Given the description of an element on the screen output the (x, y) to click on. 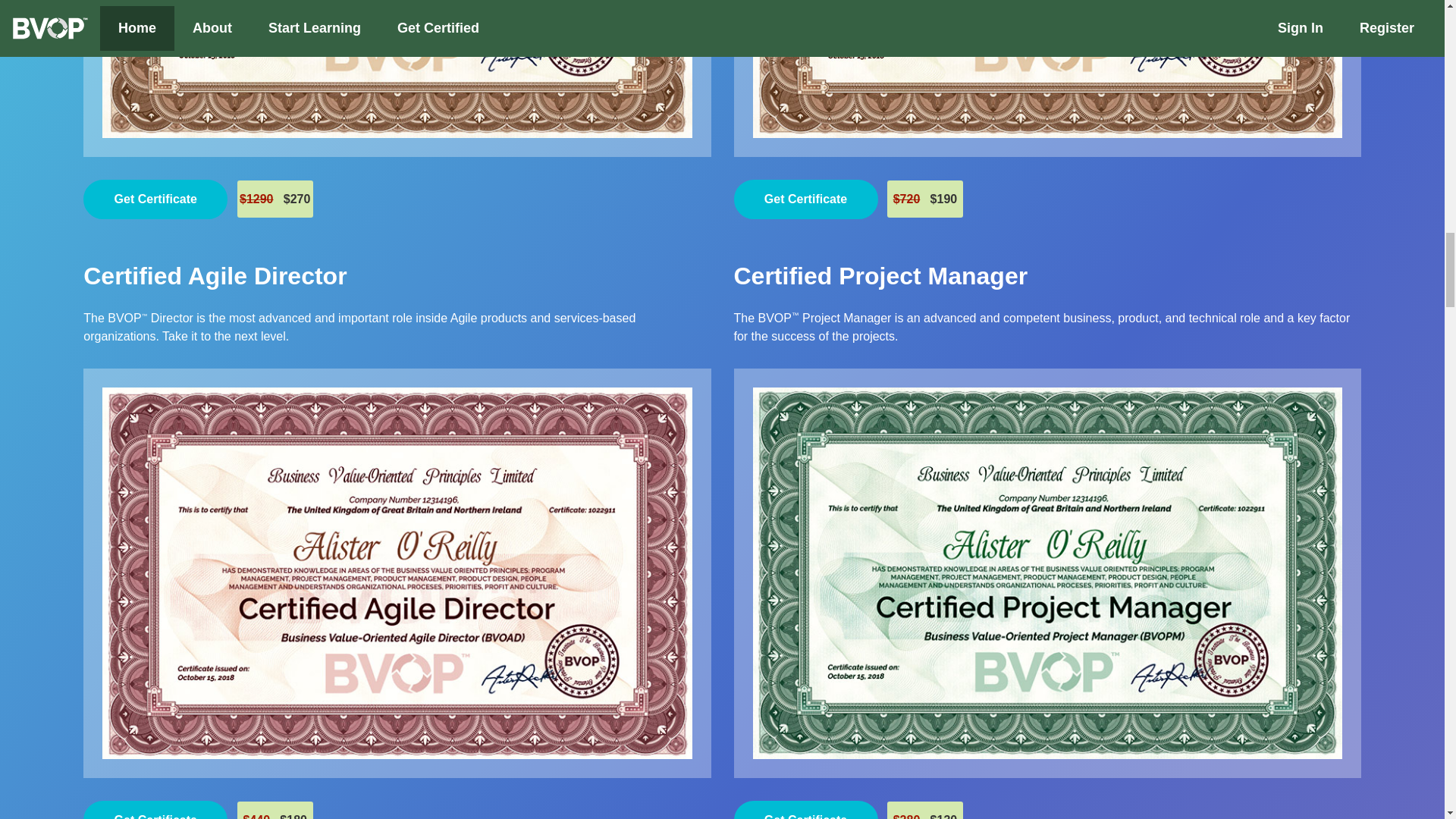
Get Certificate (805, 809)
Certified Agile Director (214, 275)
Get Certificate (154, 809)
Get Certificate (805, 199)
Program Director certificate (1046, 69)
Certified Project Manager (880, 275)
Get Certificate (154, 199)
Chief Executive Certification (396, 69)
Project Manager Certification (880, 275)
Agile Director Certification (214, 275)
